Given the description of an element on the screen output the (x, y) to click on. 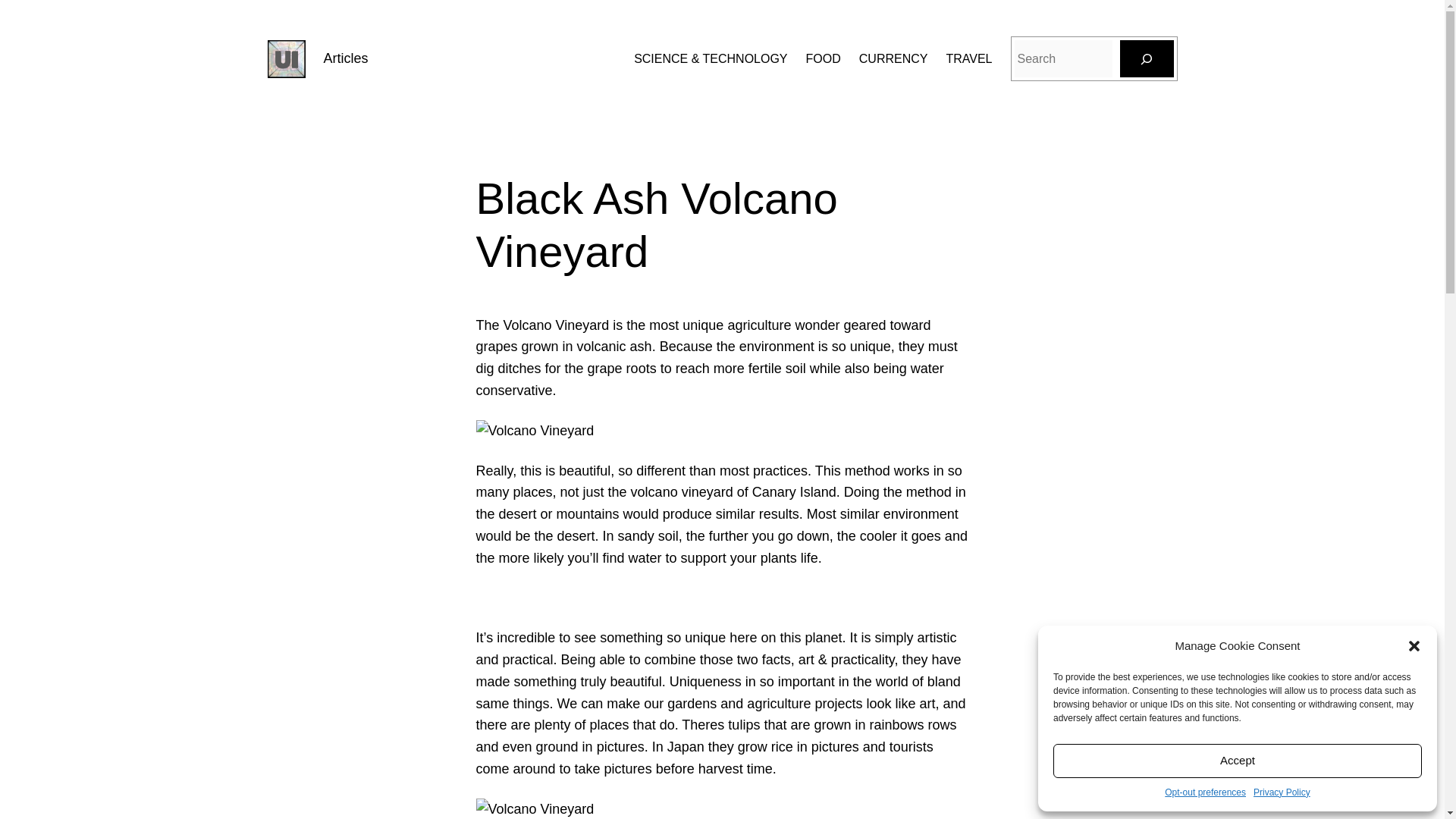
TRAVEL (967, 58)
Articles (345, 58)
Privacy Policy (1281, 792)
Accept (1237, 760)
FOOD (823, 58)
Opt-out preferences (1205, 792)
CURRENCY (893, 58)
